Given the description of an element on the screen output the (x, y) to click on. 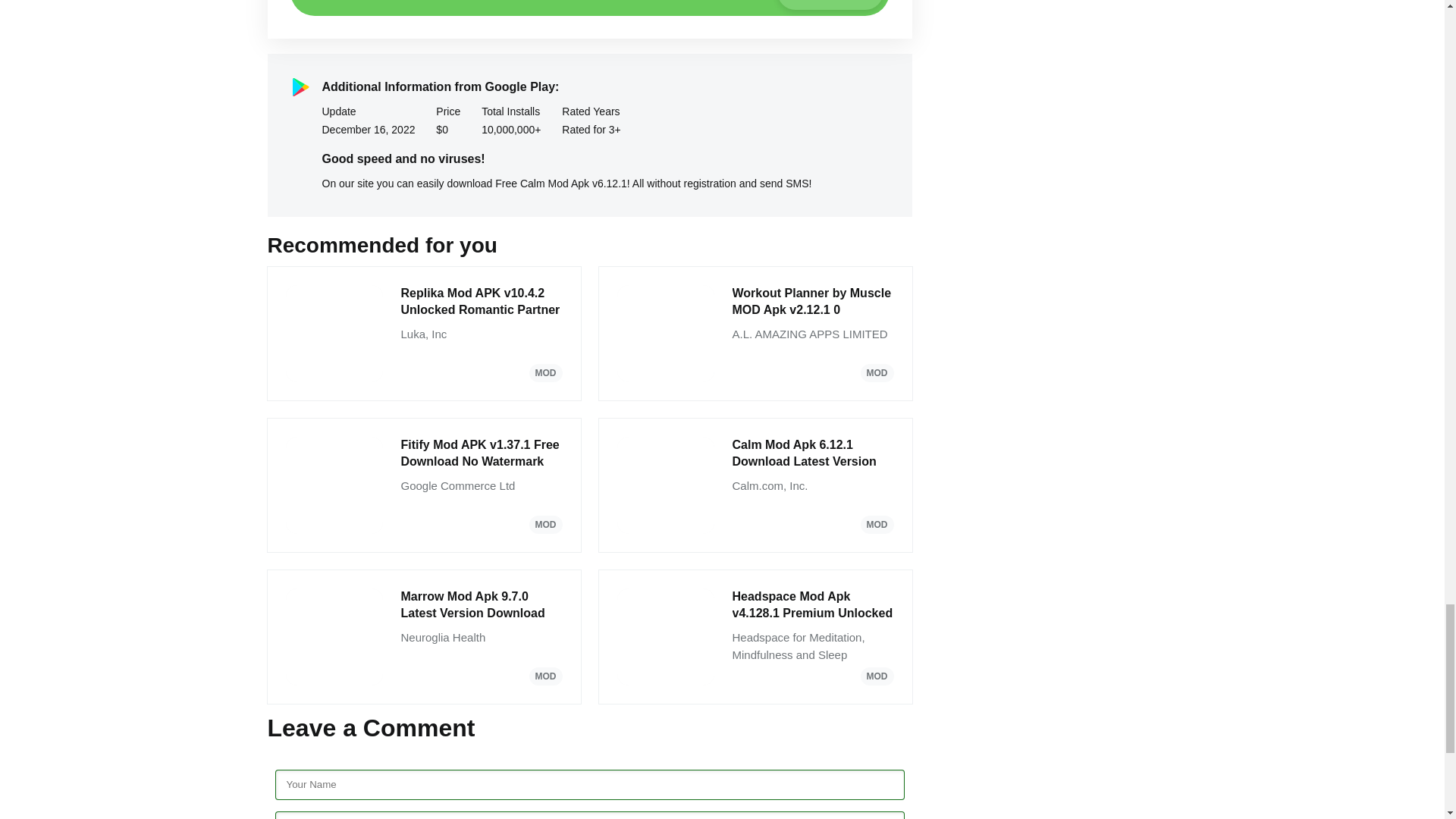
Fitify Mod APK v1.37.1 Free Download No Watermark (588, 7)
Headspace Mod Apk  V4.128.1  Premium Unlocked (481, 453)
Fitify Mod APK V1.37.1 Free Download No Watermark (812, 605)
Workout Planner by Muscle MOD Apk v2.12.1 0 Premium Unlocked (481, 453)
Calm Mod Apk 6.12.1 Download Latest Version For Android (812, 302)
Workout Planner By Muscle MOD Apk V2.12.1 0 Premium Unlocked (812, 453)
Marrow Mod Apk 9.7.0 Latest Version Download (812, 302)
Replika Mod APK v10.4.2 Unlocked Romantic Partner (481, 605)
Replika Mod APK V10.4.2 Unlocked Romantic Partner (481, 302)
